Given the description of an element on the screen output the (x, y) to click on. 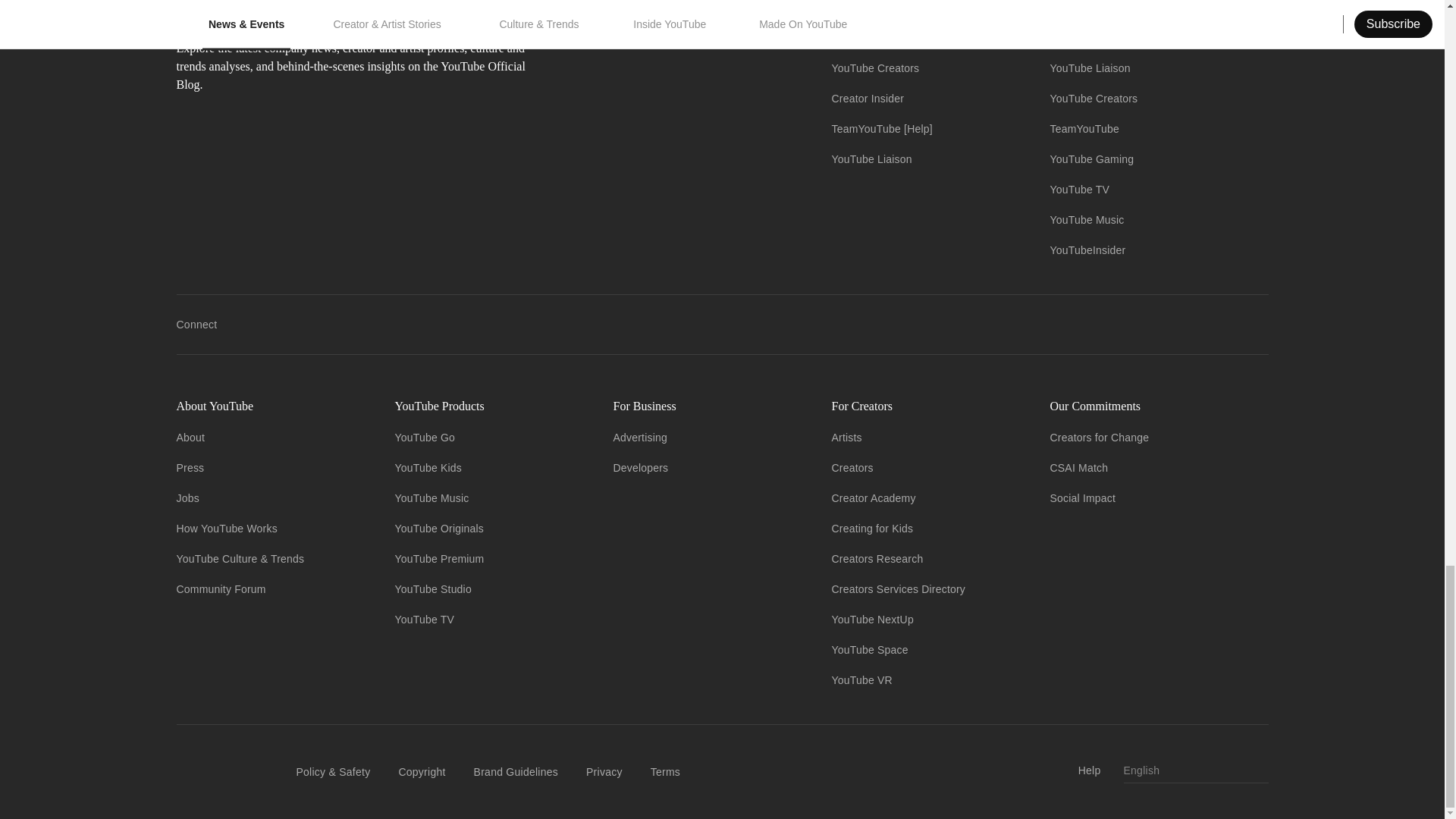
YouTube Liaison (871, 159)
Creator Insider (867, 98)
Our Channels (928, 7)
YouTube Creators (874, 68)
YouTube (852, 37)
